Given the description of an element on the screen output the (x, y) to click on. 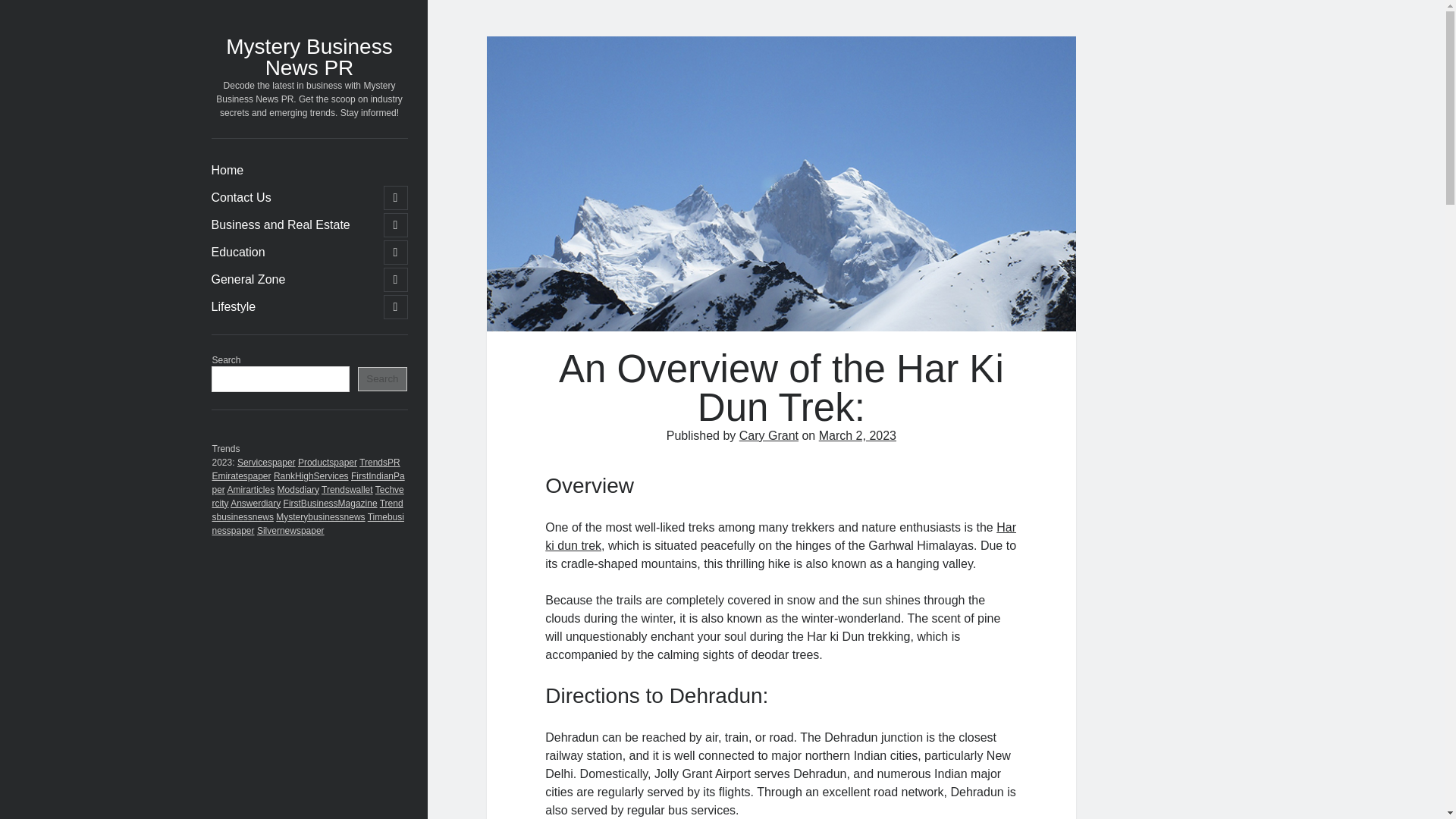
Mystery Business News PR (308, 57)
open child menu (395, 306)
Education (237, 252)
Productspaper (327, 461)
Search (382, 378)
Home (227, 170)
open child menu (395, 224)
open child menu (395, 279)
Lifestyle (233, 307)
open child menu (395, 252)
